Given the description of an element on the screen output the (x, y) to click on. 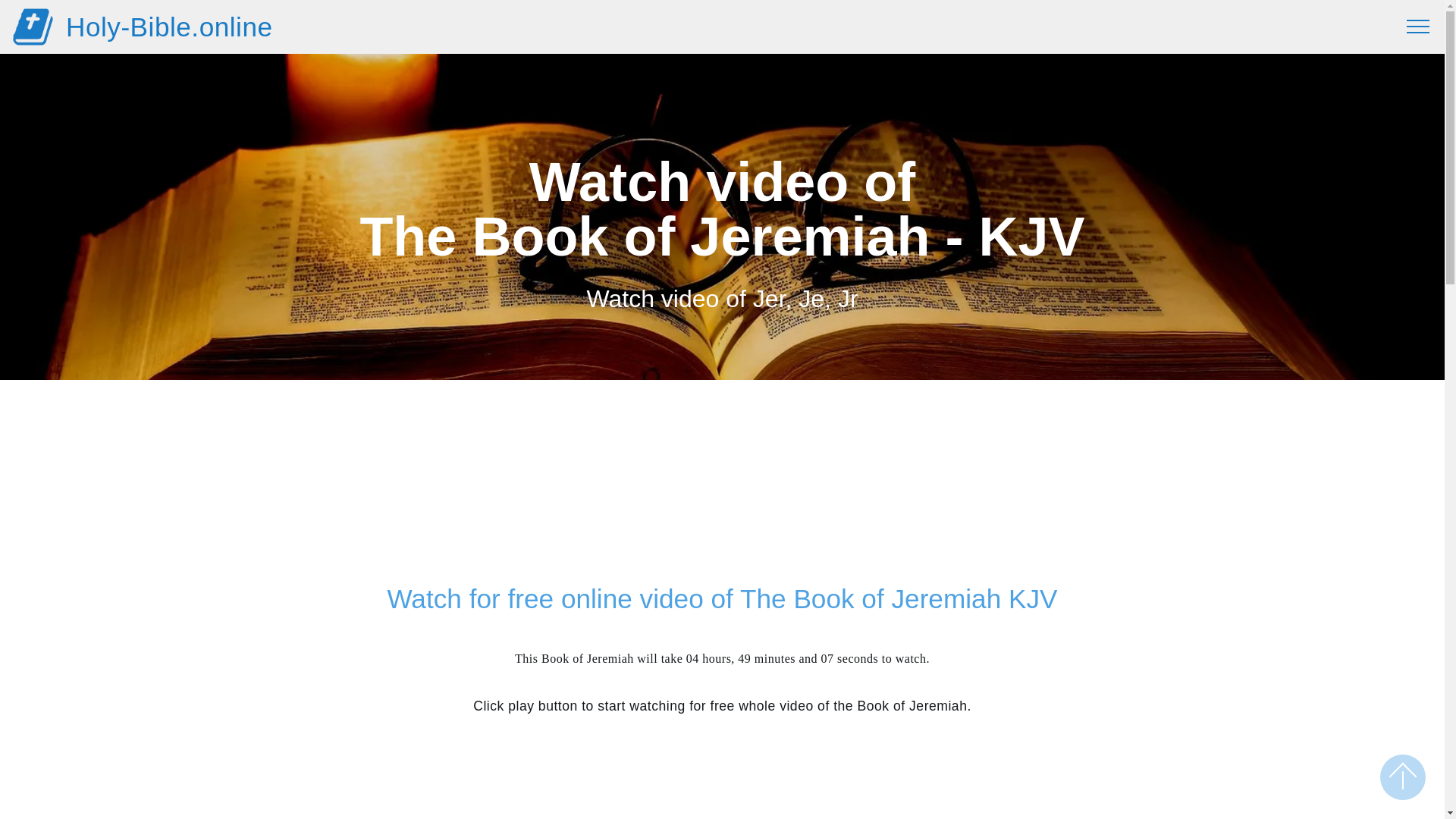
3rd party ad content (721, 488)
Holy-Bible.online (169, 26)
YouTube video (721, 778)
